Given the description of an element on the screen output the (x, y) to click on. 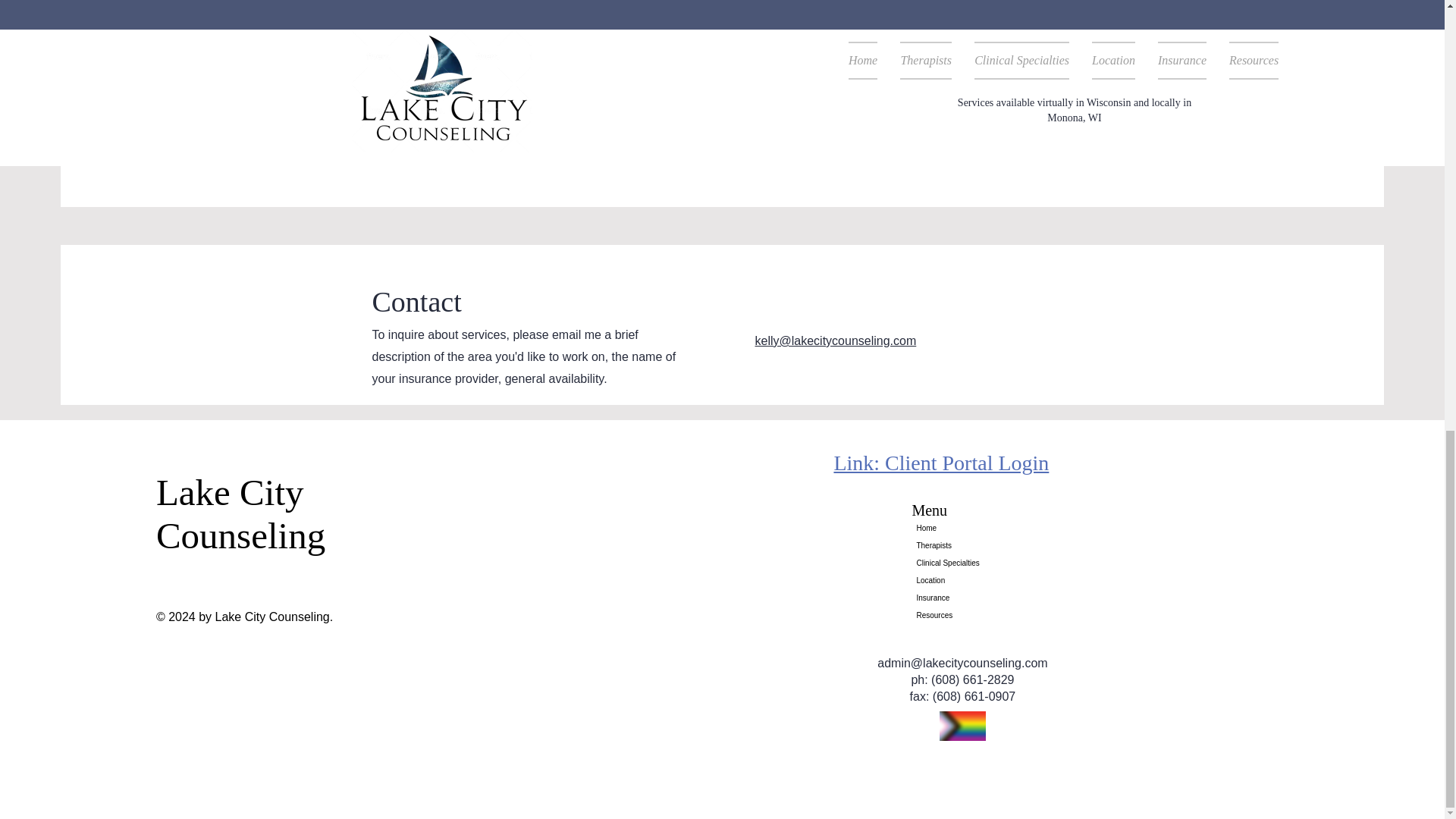
Clinical Specialties (962, 562)
Insurance (962, 597)
Location (962, 579)
Link: Client Portal Login (940, 463)
LGBTQ Flag.png (962, 726)
Therapists (962, 545)
Home (962, 528)
Resources (962, 615)
